Given the description of an element on the screen output the (x, y) to click on. 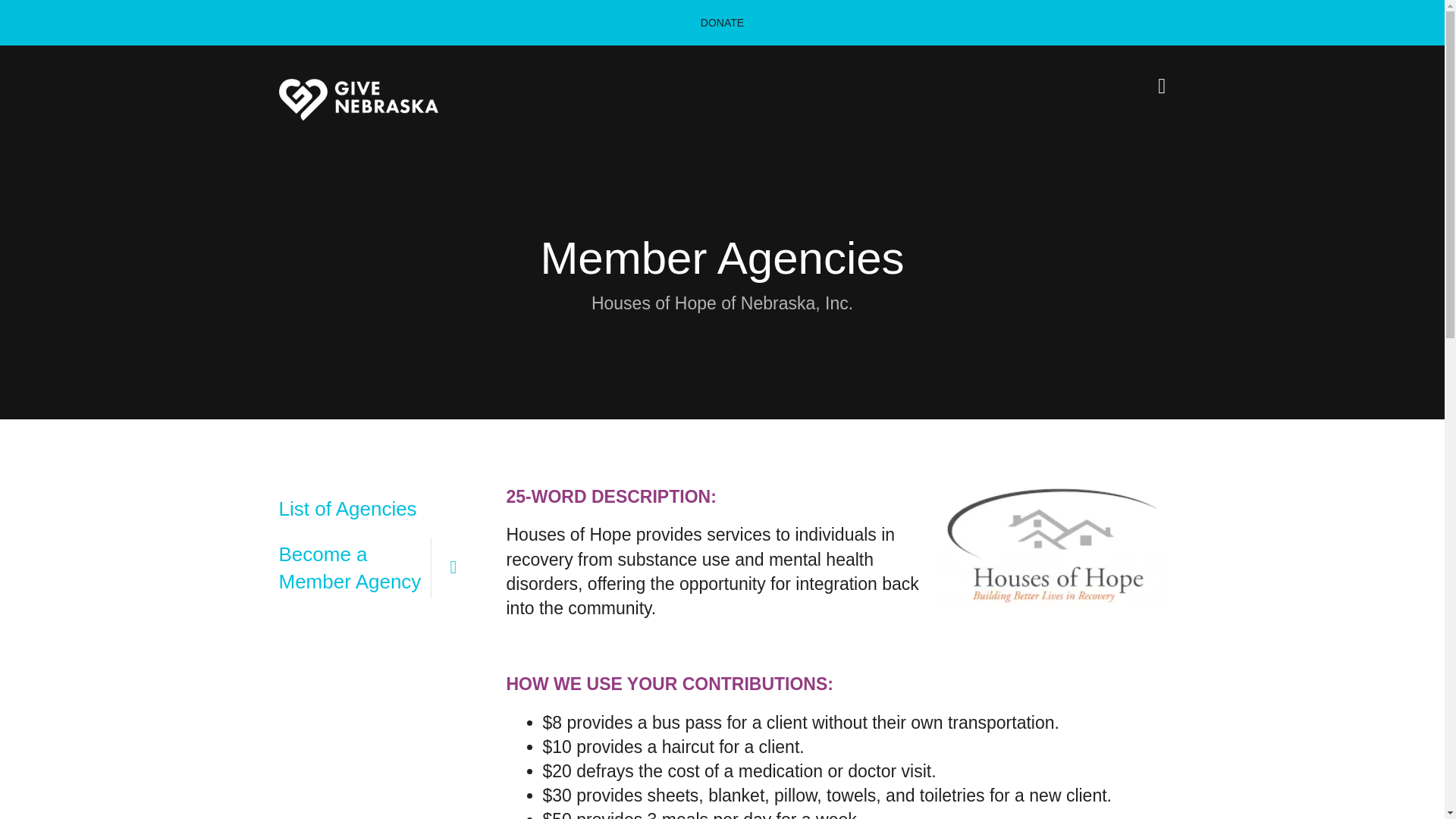
logo (358, 99)
